Given the description of an element on the screen output the (x, y) to click on. 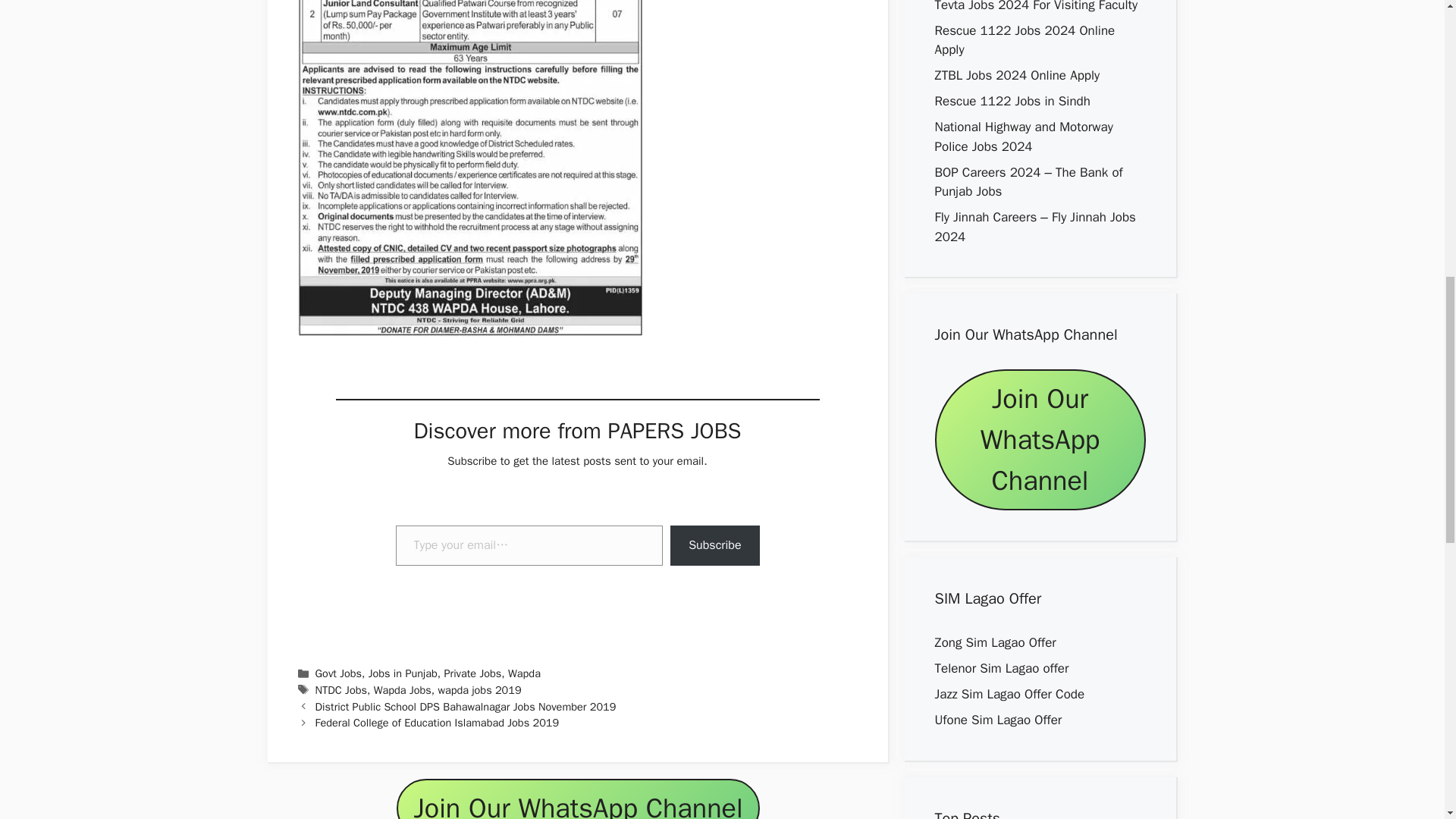
Wapda Jobs (402, 689)
Govt Jobs (338, 673)
NTDC Jobs November 2019 - NTDC Latest Jobs 1 (469, 168)
Federal College of Education Islamabad Jobs 2019 (437, 722)
Wapda (524, 673)
Please fill in this field. (529, 545)
ZTBL Jobs 2024 Online Apply (1016, 75)
Subscribe (713, 545)
NTDC Jobs (340, 689)
District Public School DPS Bahawalnagar Jobs November 2019 (465, 706)
